Given the description of an element on the screen output the (x, y) to click on. 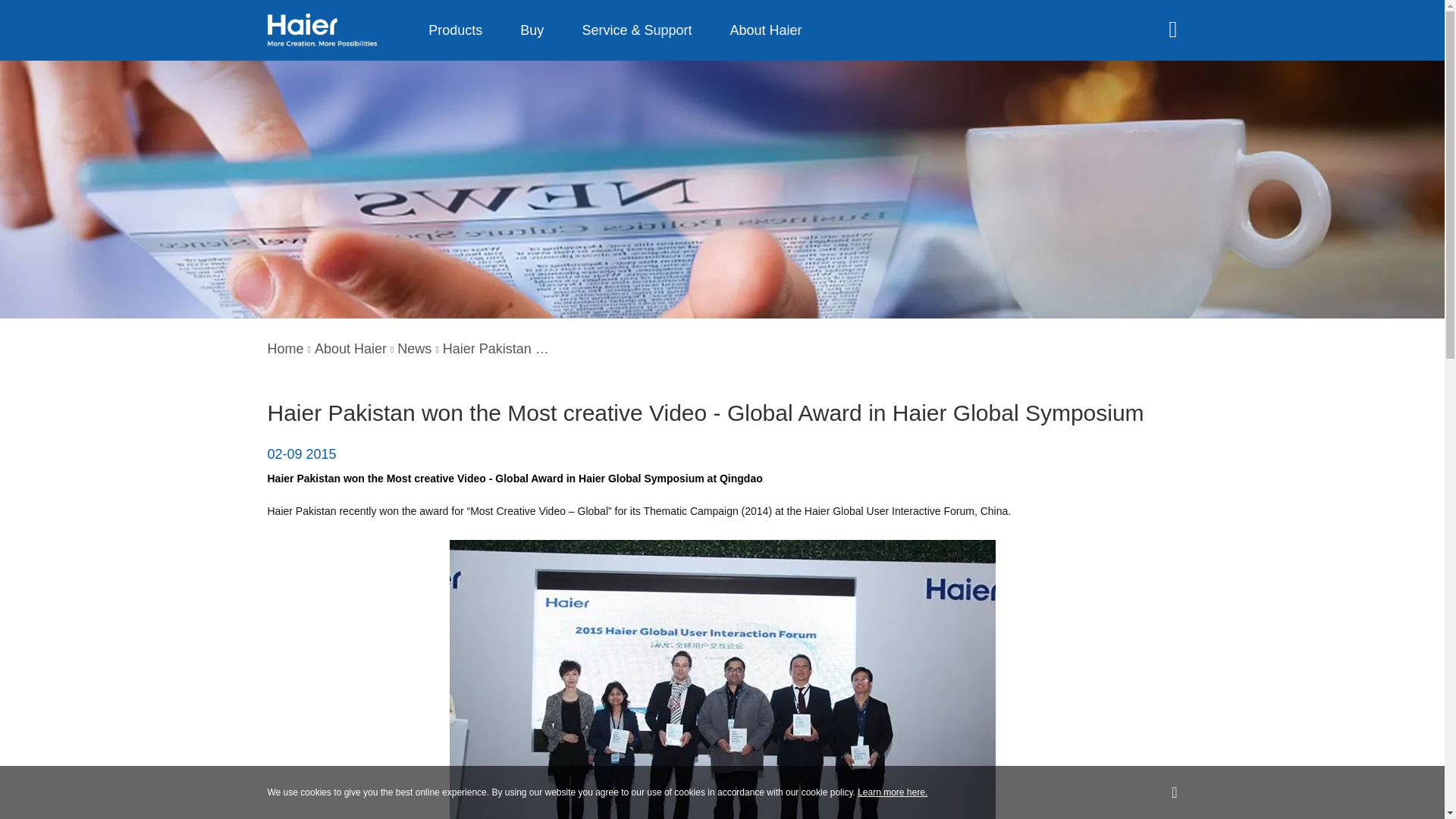
Learn more here. (892, 792)
Products (455, 30)
About Haier (350, 348)
About Haier (765, 30)
News (413, 348)
Home (284, 348)
